Given the description of an element on the screen output the (x, y) to click on. 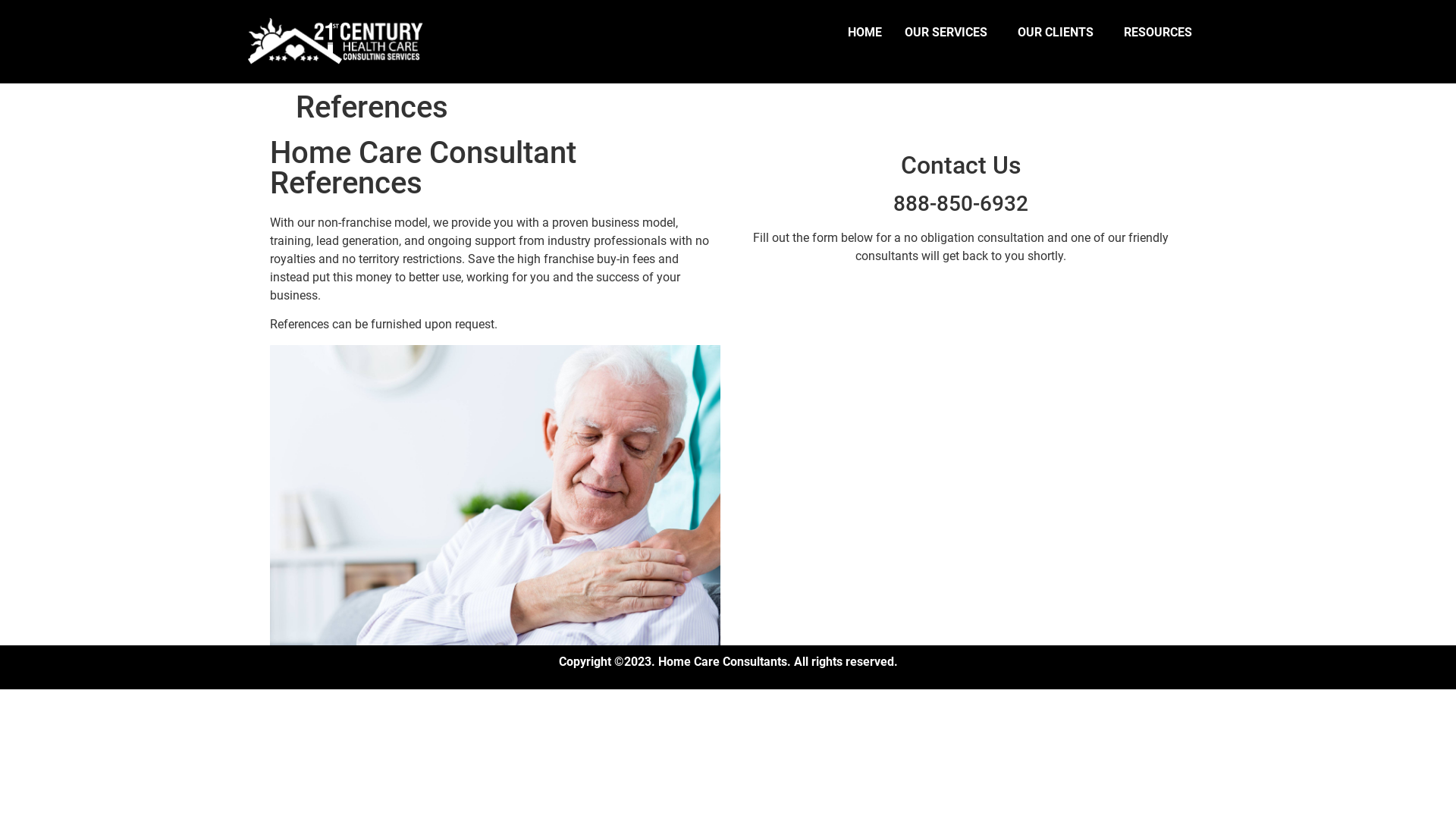
RESOURCES Element type: text (1161, 32)
OUR SERVICES Element type: text (949, 32)
OUR CLIENTS Element type: text (1059, 32)
HOME Element type: text (864, 32)
